Given the description of an element on the screen output the (x, y) to click on. 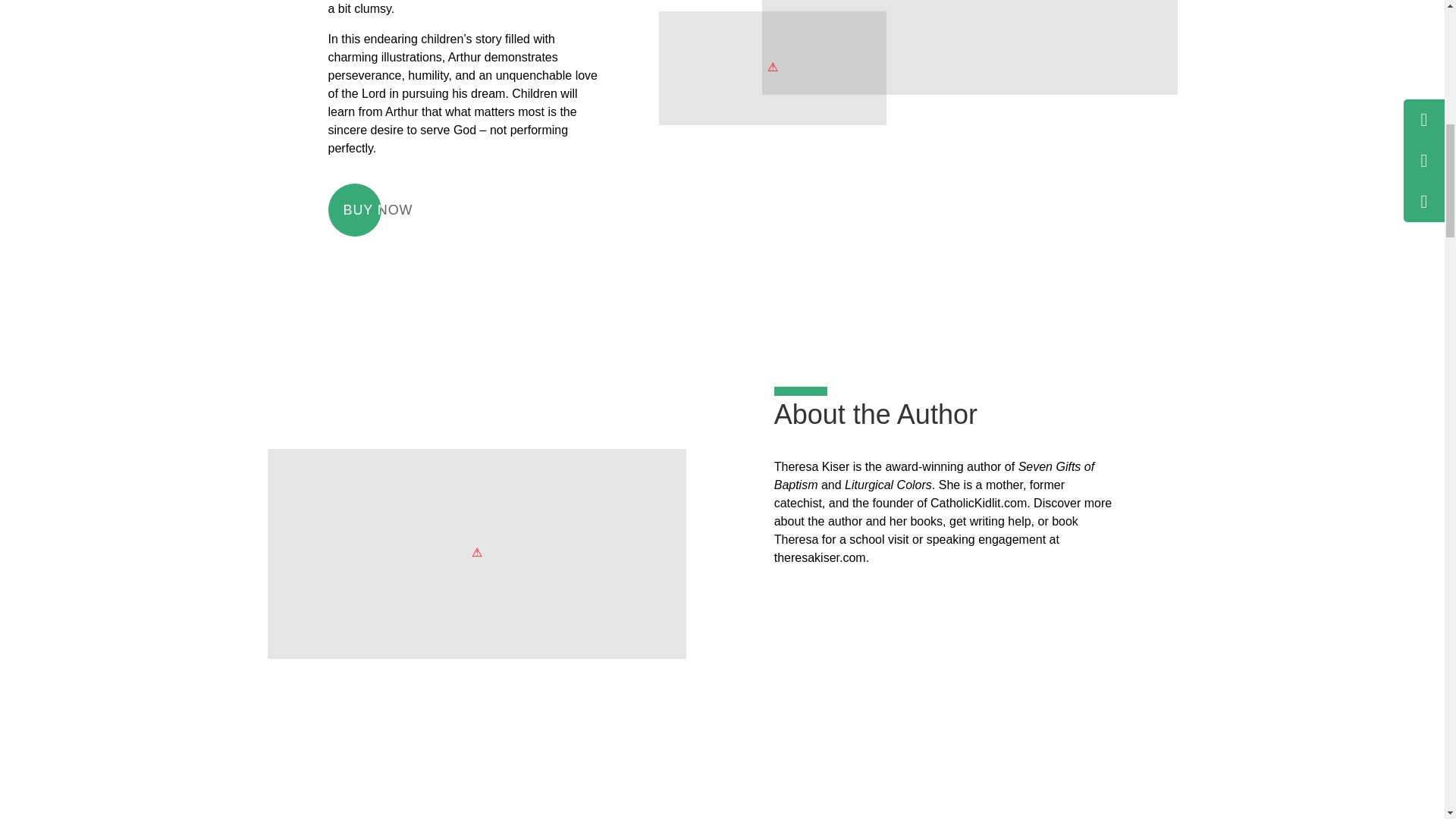
BUY NOW (377, 210)
Click Here (771, 104)
Click Here (968, 66)
